Given the description of an element on the screen output the (x, y) to click on. 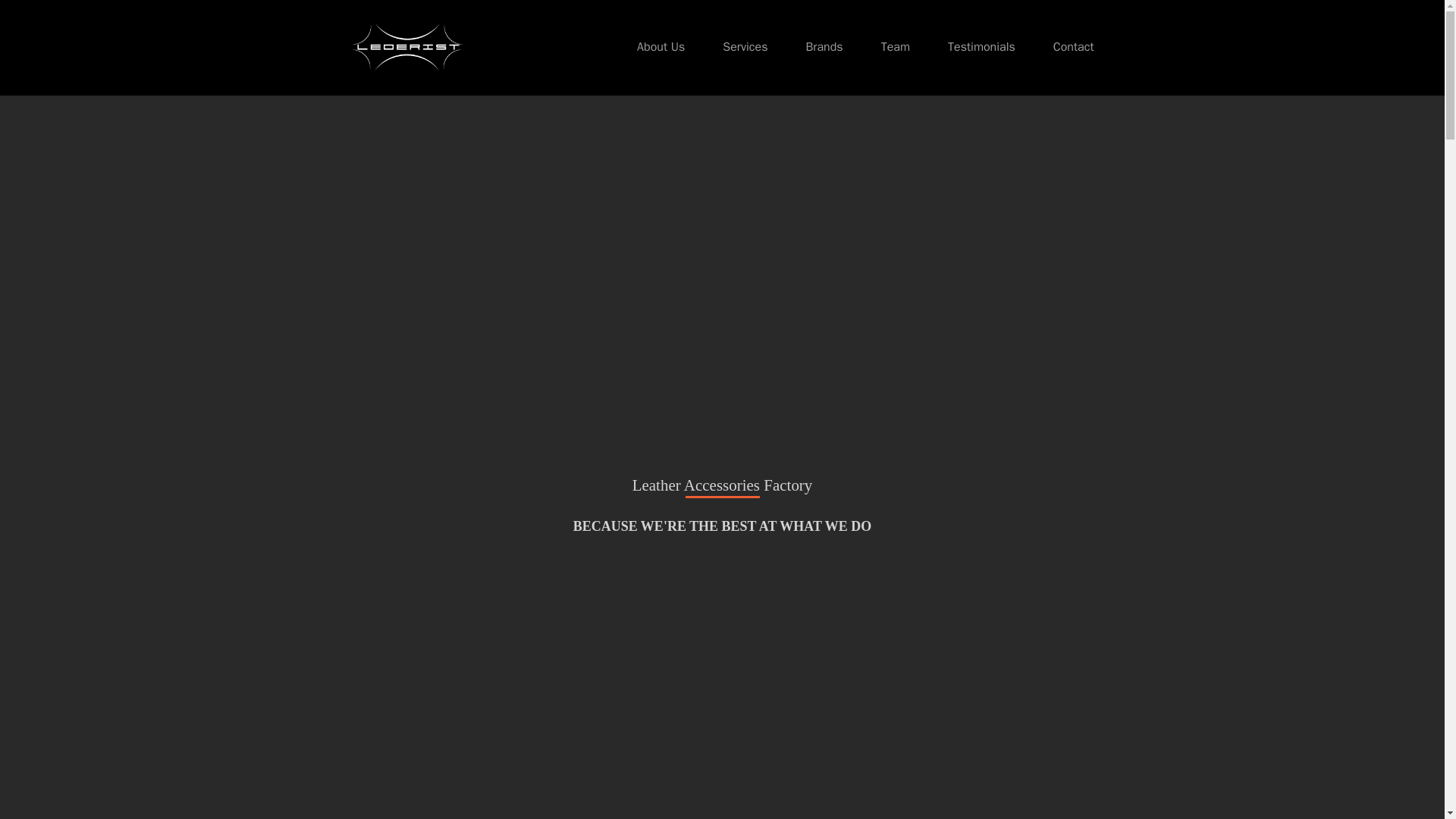
Testimonials (981, 47)
About Us (660, 47)
Contact (1073, 47)
Services (744, 47)
Services (744, 47)
About Us (660, 47)
Team (895, 47)
Team (895, 47)
Contact (1073, 47)
Brands (823, 47)
Testimonials (981, 47)
Brands (823, 47)
